Given the description of an element on the screen output the (x, y) to click on. 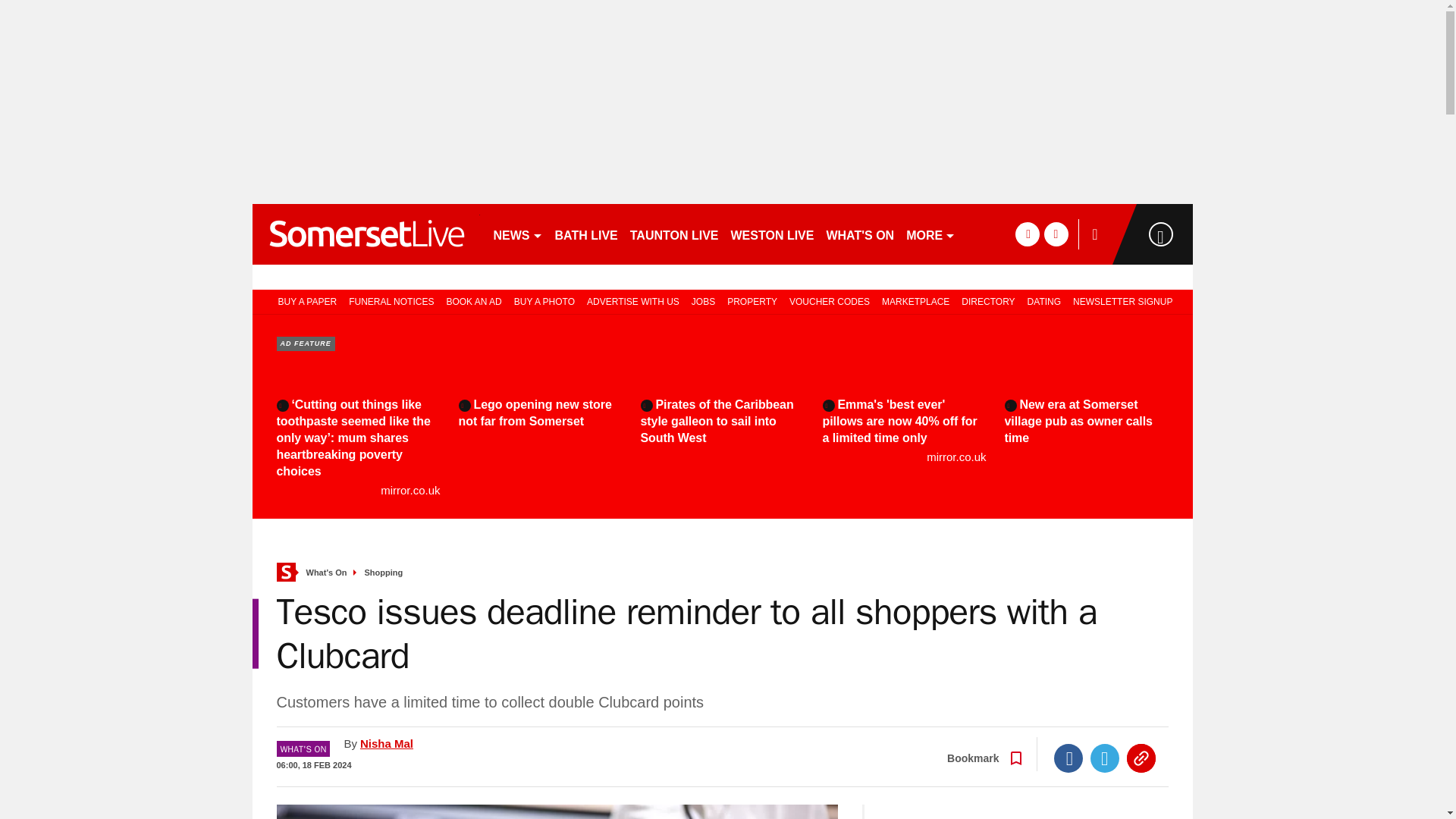
facebook (1026, 233)
BATH LIVE (586, 233)
twitter (1055, 233)
somersetlive (365, 233)
WHAT'S ON (859, 233)
WESTON LIVE (773, 233)
Facebook (1068, 758)
Twitter (1104, 758)
MORE (929, 233)
NEWS (517, 233)
